Given the description of an element on the screen output the (x, y) to click on. 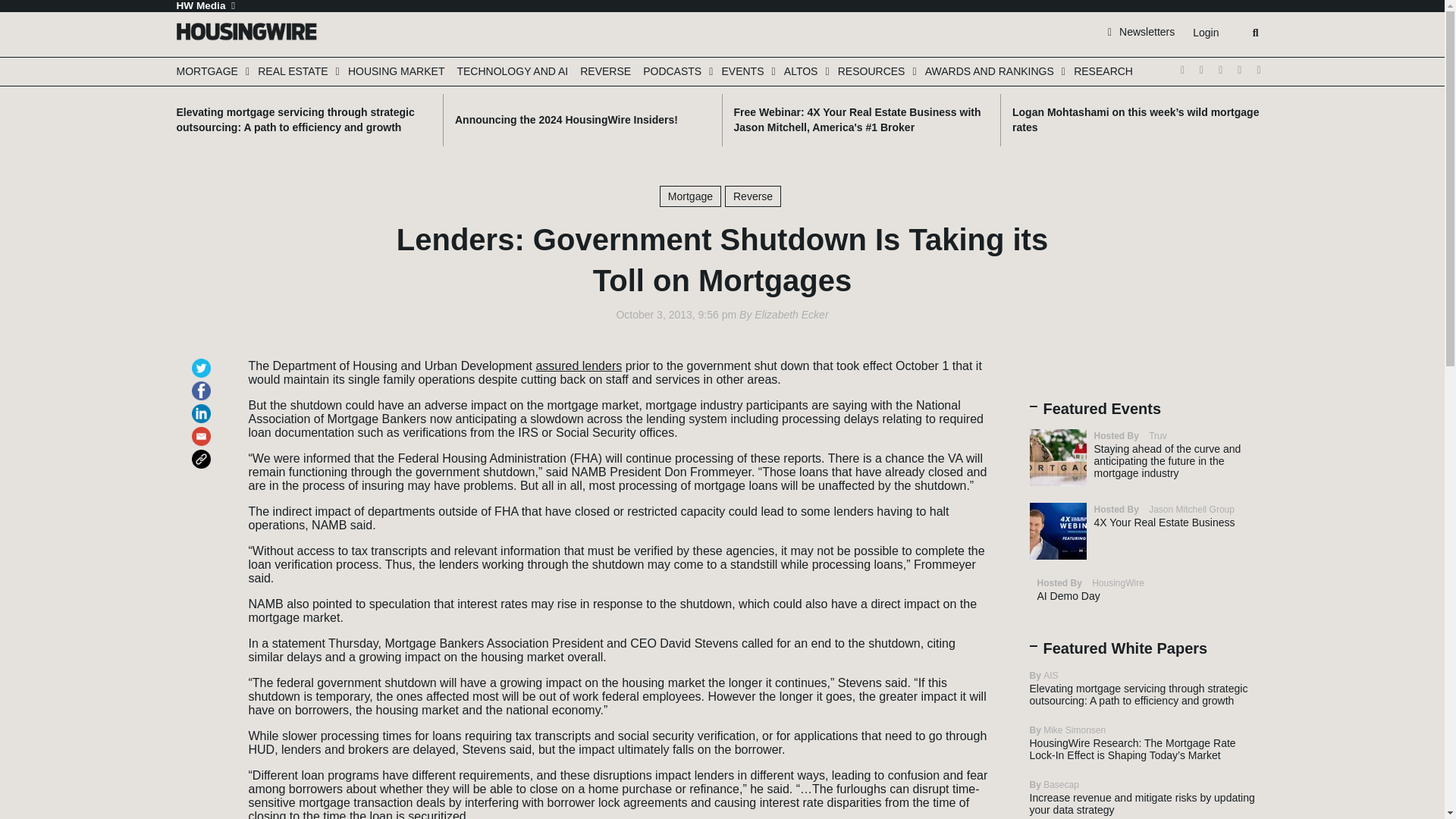
Click to share on LinkedIn (203, 406)
Login (1205, 32)
Click to share on Twitter (203, 360)
Click to email a link to a friend (203, 429)
Posts by Elizabeth Ecker (791, 314)
Newsletters (1141, 31)
Click to share on Facebook (203, 383)
Click to copy link (203, 452)
